Given the description of an element on the screen output the (x, y) to click on. 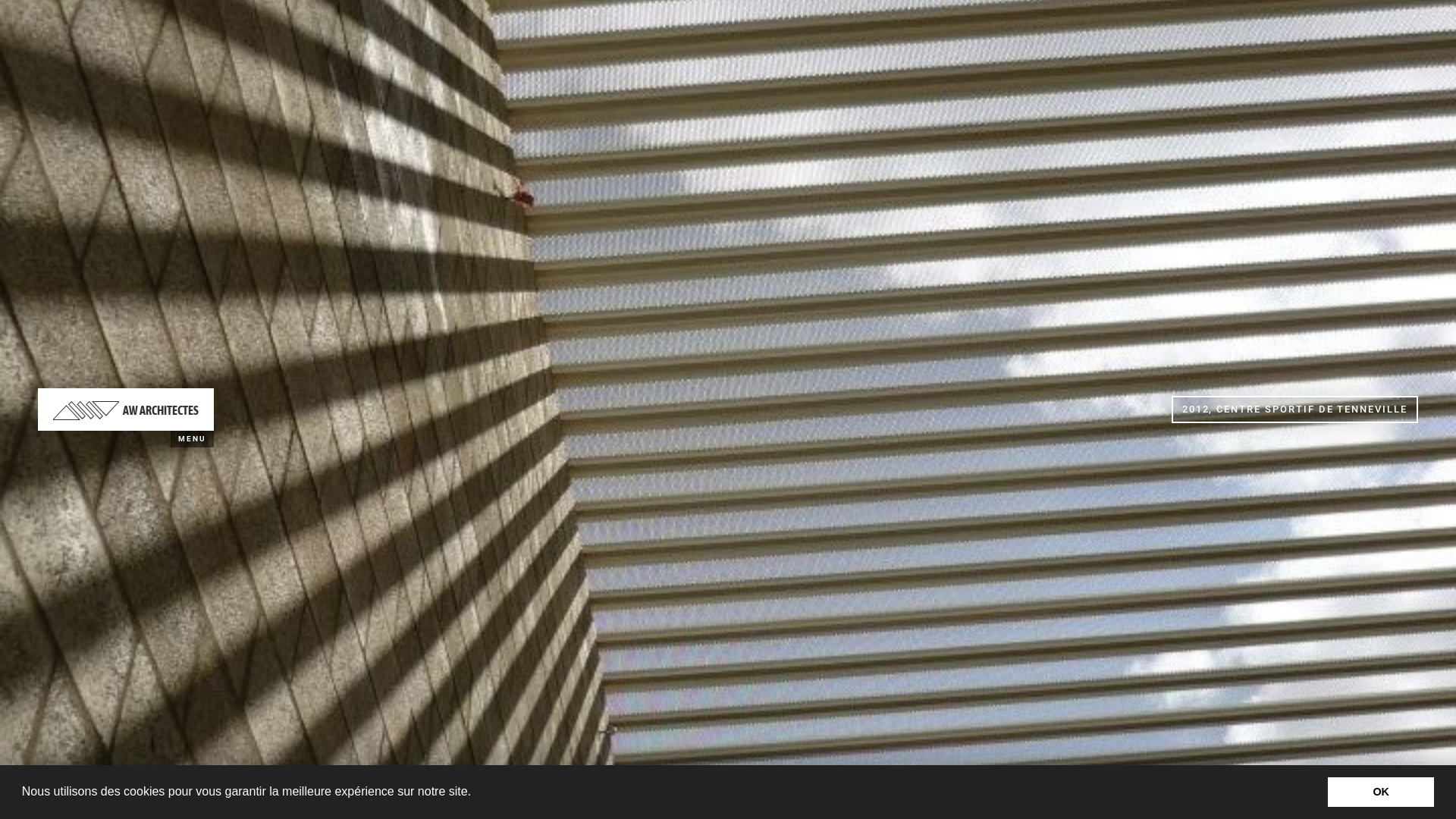
OK Element type: text (1380, 791)
AW ARCHITECTES Element type: text (125, 409)
